Given the description of an element on the screen output the (x, y) to click on. 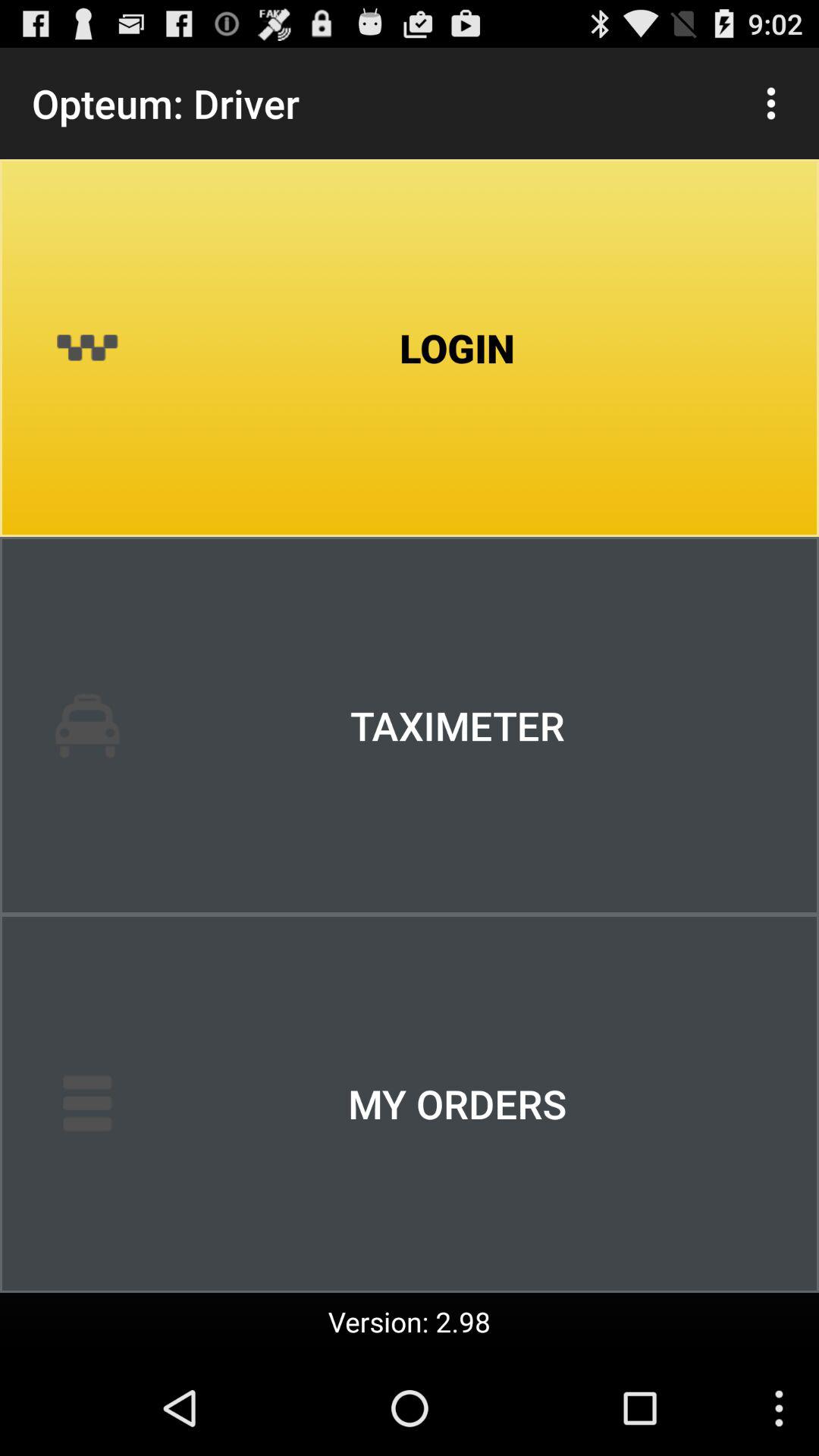
tap login icon (409, 347)
